Given the description of an element on the screen output the (x, y) to click on. 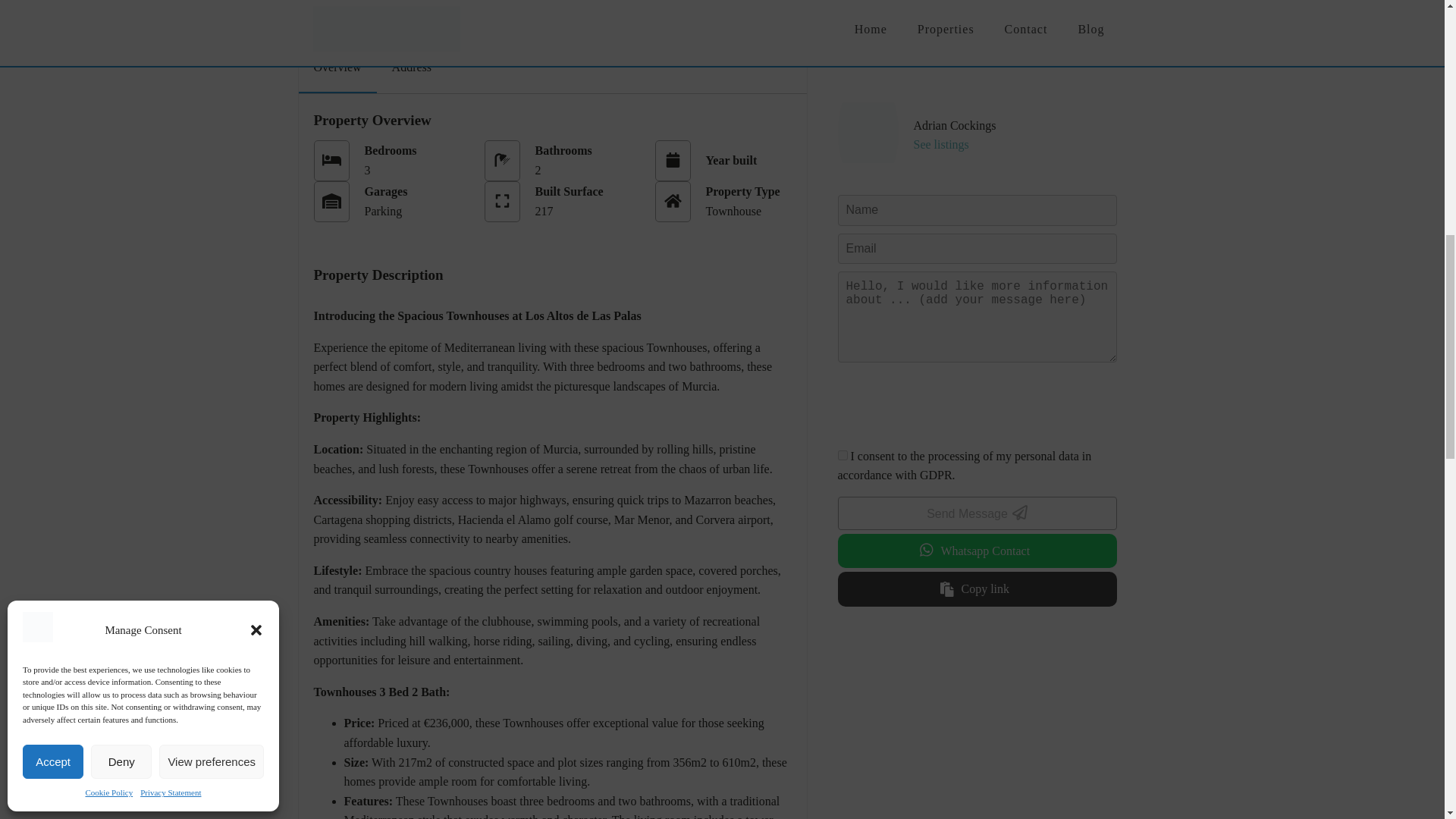
on (842, 451)
See 32 Photos (1072, 7)
Send Message (976, 509)
See listings (940, 140)
reCAPTCHA (952, 401)
Whatsapp Contact (976, 547)
Copy link (976, 585)
